Given the description of an element on the screen output the (x, y) to click on. 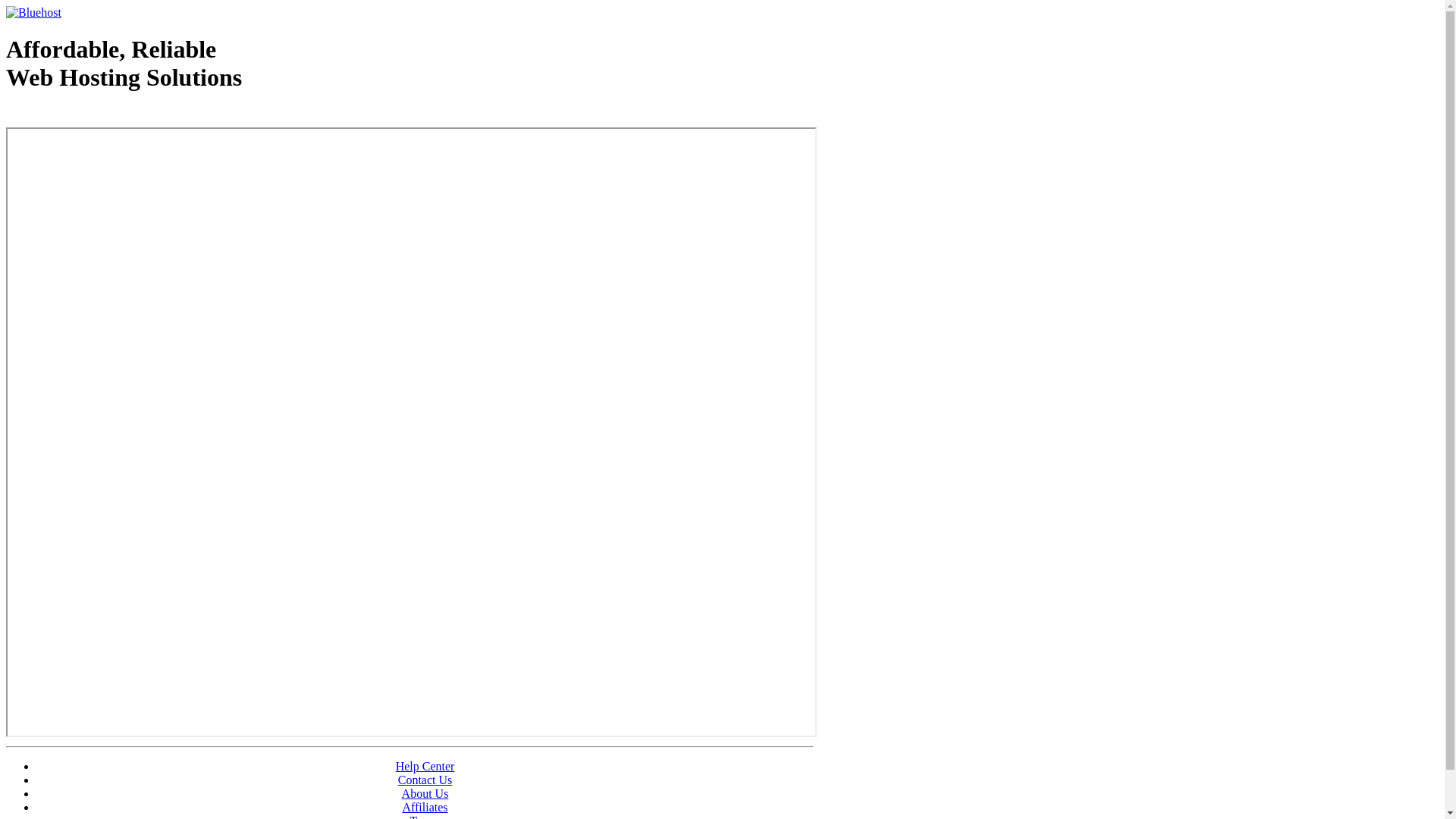
Affiliates Element type: text (424, 806)
Help Center Element type: text (425, 765)
About Us Element type: text (424, 793)
Web Hosting - courtesy of www.bluehost.com Element type: text (94, 115)
Contact Us Element type: text (425, 779)
